Given the description of an element on the screen output the (x, y) to click on. 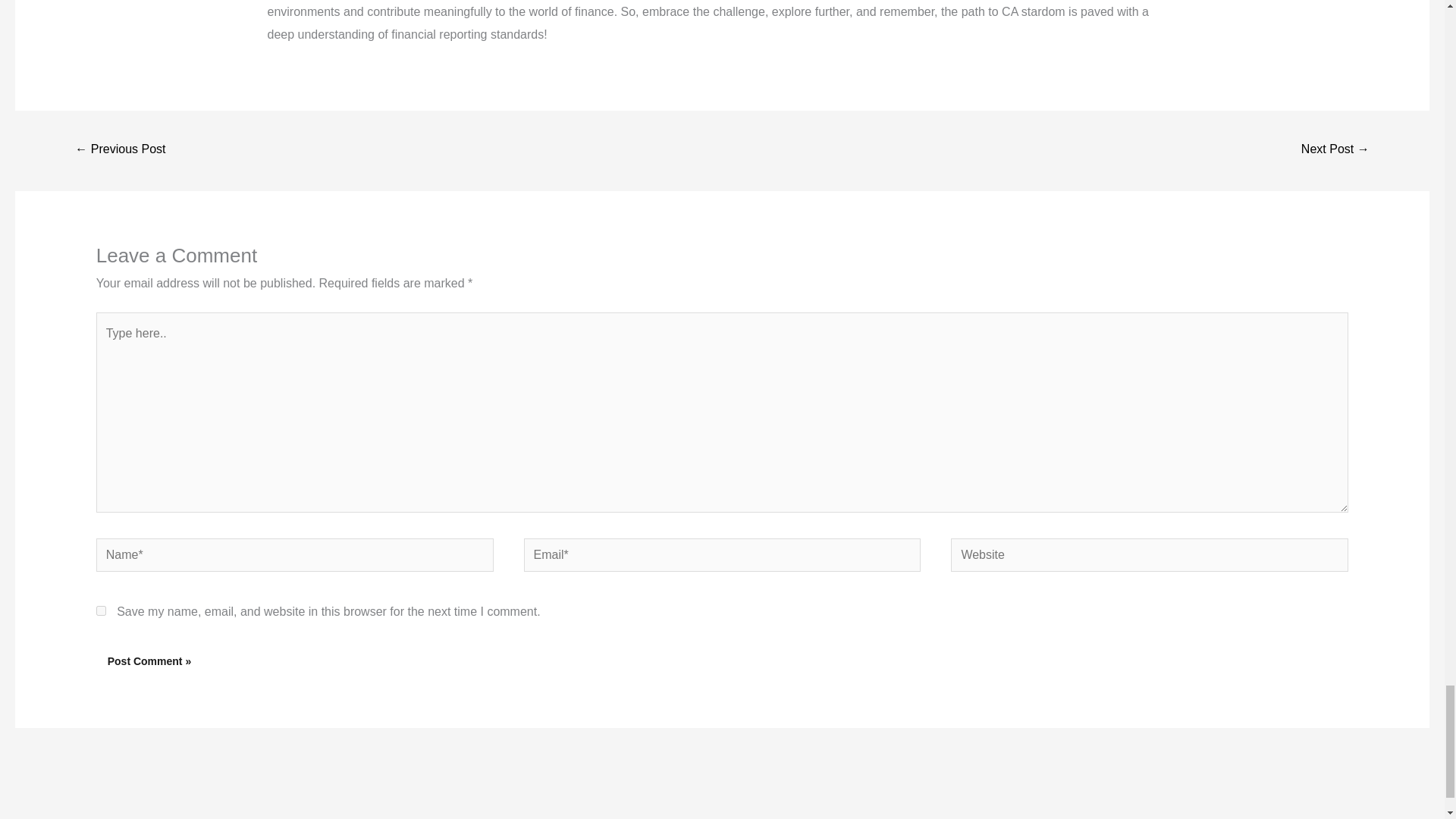
yes (101, 610)
